Given the description of an element on the screen output the (x, y) to click on. 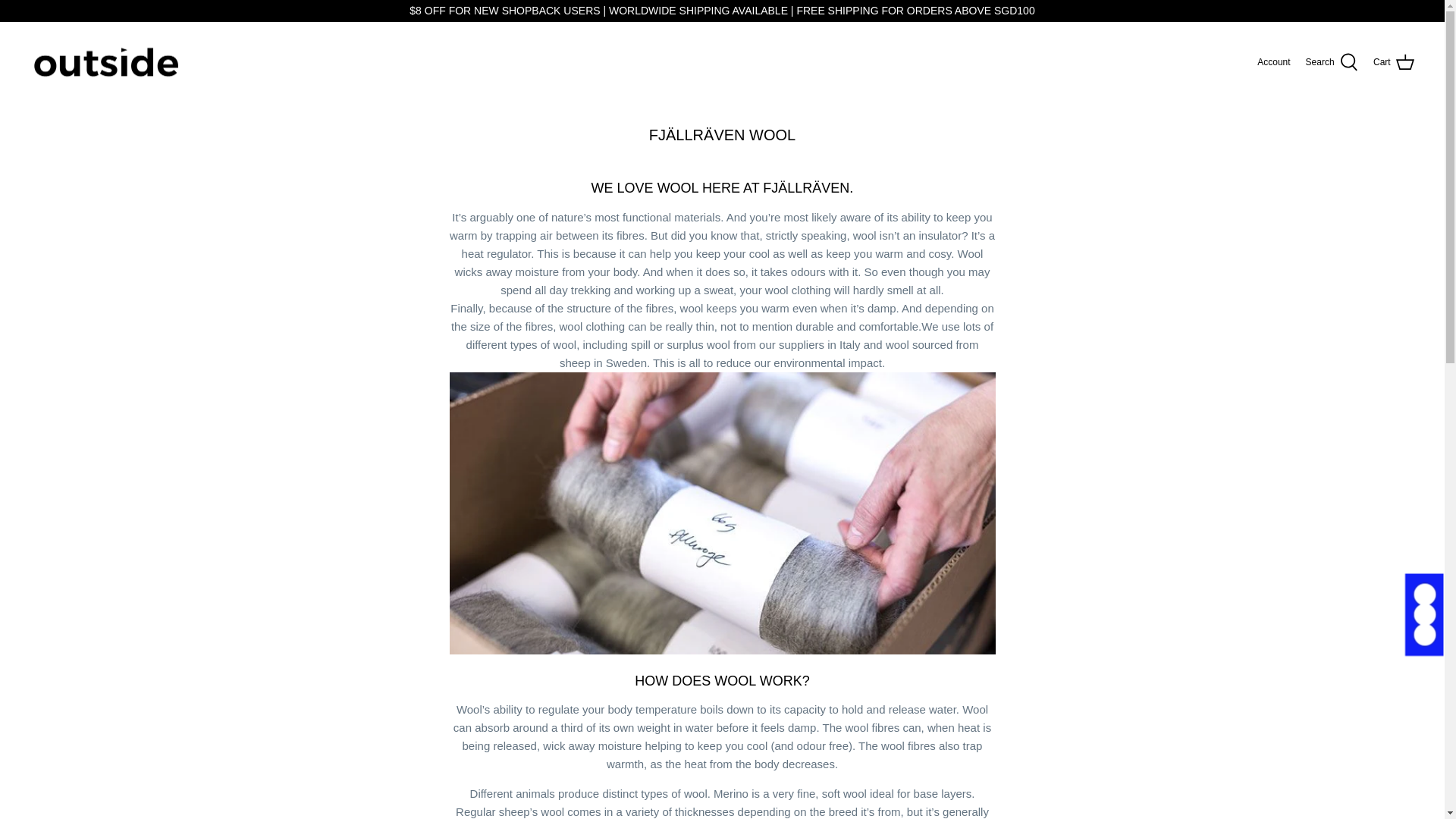
Cart (1393, 62)
Outside Store Singapore  (106, 61)
Search (1332, 62)
Account (1273, 61)
